Given the description of an element on the screen output the (x, y) to click on. 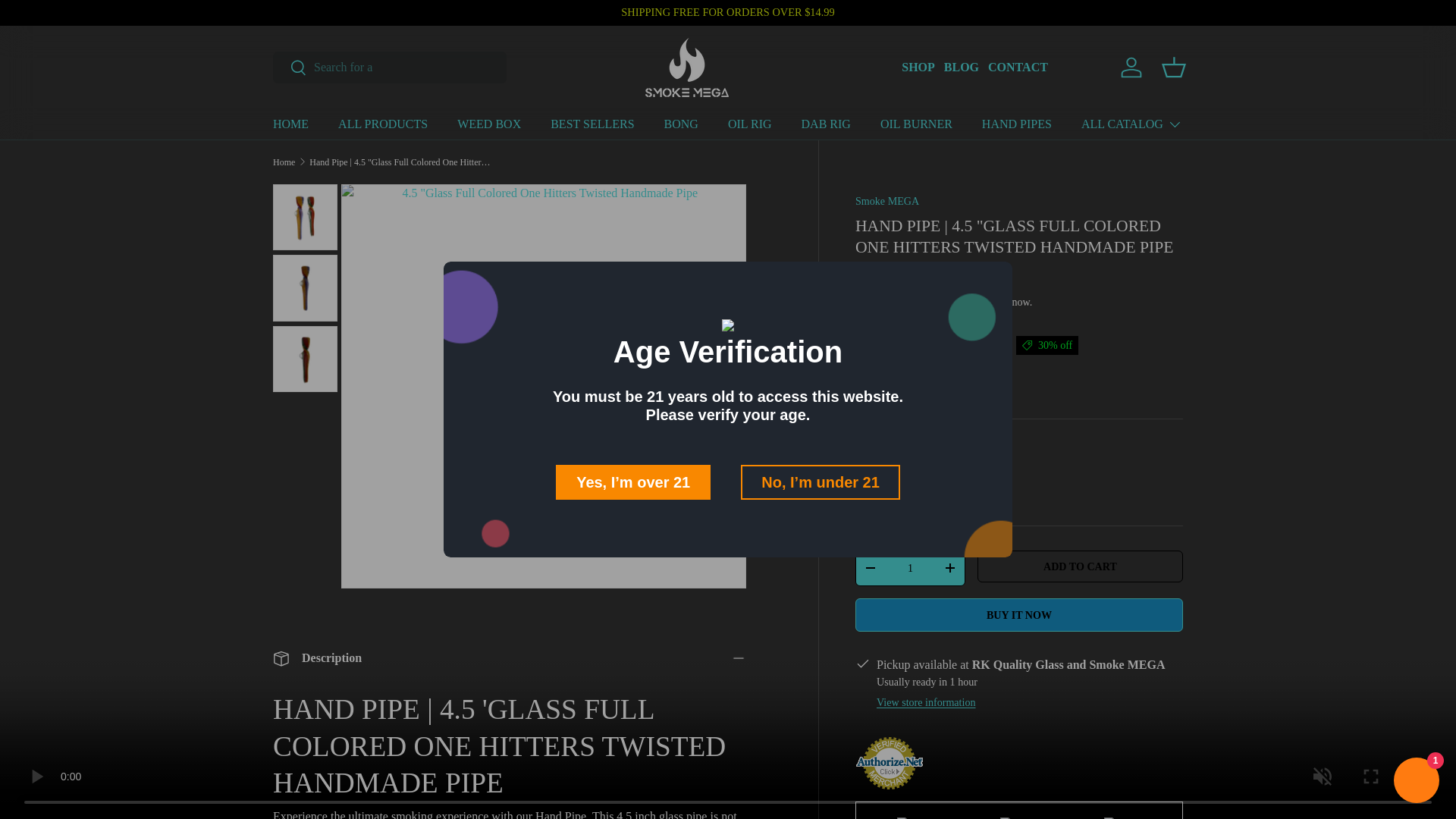
ALL CATALOG (1131, 123)
Log in (1131, 67)
BONG (680, 123)
OIL RIG (749, 123)
BEST SELLERS (591, 123)
HAND PIPES (1016, 123)
OIL BURNER (916, 123)
Basket (1174, 67)
WEED BOX (489, 123)
SKIP TO CONTENT (68, 21)
1 (910, 567)
HOME (290, 123)
BLOG (960, 67)
SHOP (917, 67)
Home (284, 162)
